Given the description of an element on the screen output the (x, y) to click on. 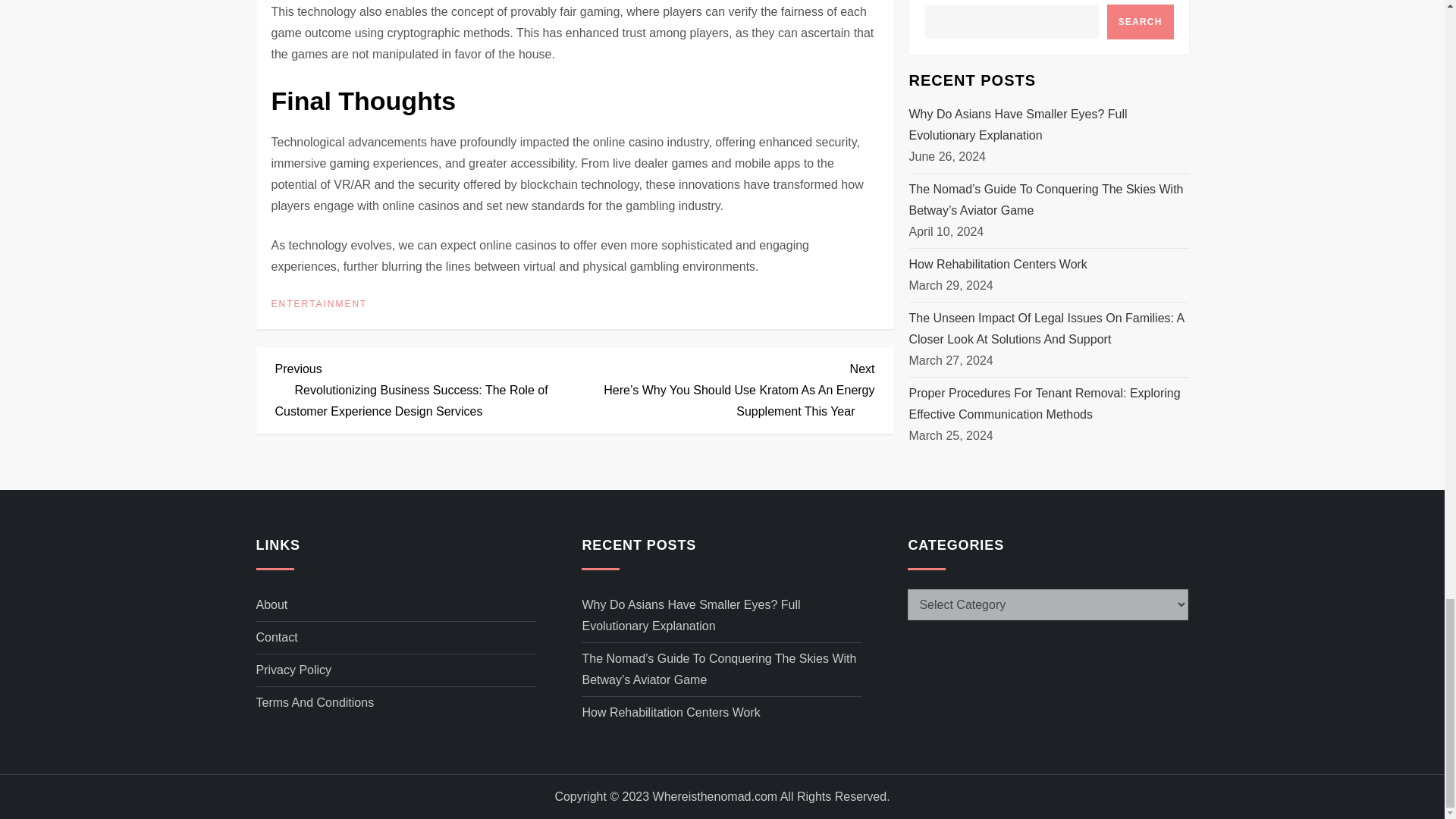
About (272, 604)
Contact (277, 637)
Terms And Conditions (315, 702)
Privacy Policy (293, 670)
ENTERTAINMENT (319, 304)
